Given the description of an element on the screen output the (x, y) to click on. 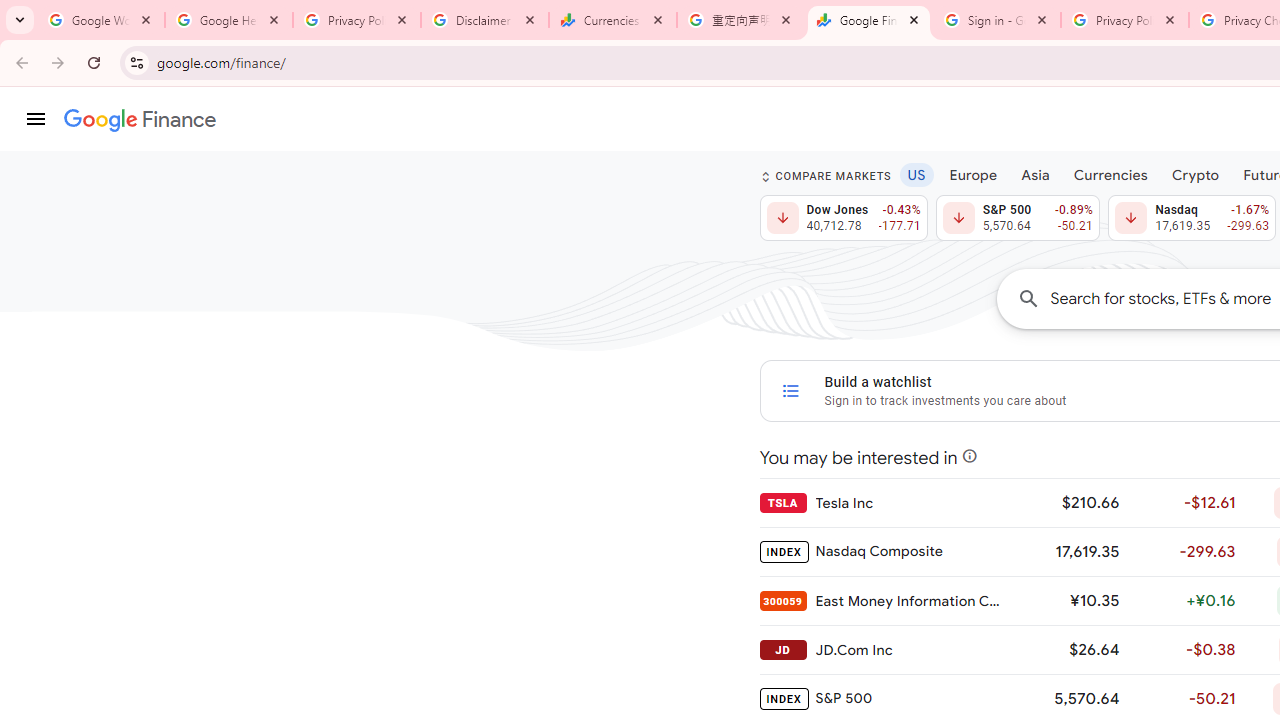
Currencies - Google Finance (613, 20)
Europe (973, 174)
Asia (1035, 174)
Sign in - Google Accounts (997, 20)
